Given the description of an element on the screen output the (x, y) to click on. 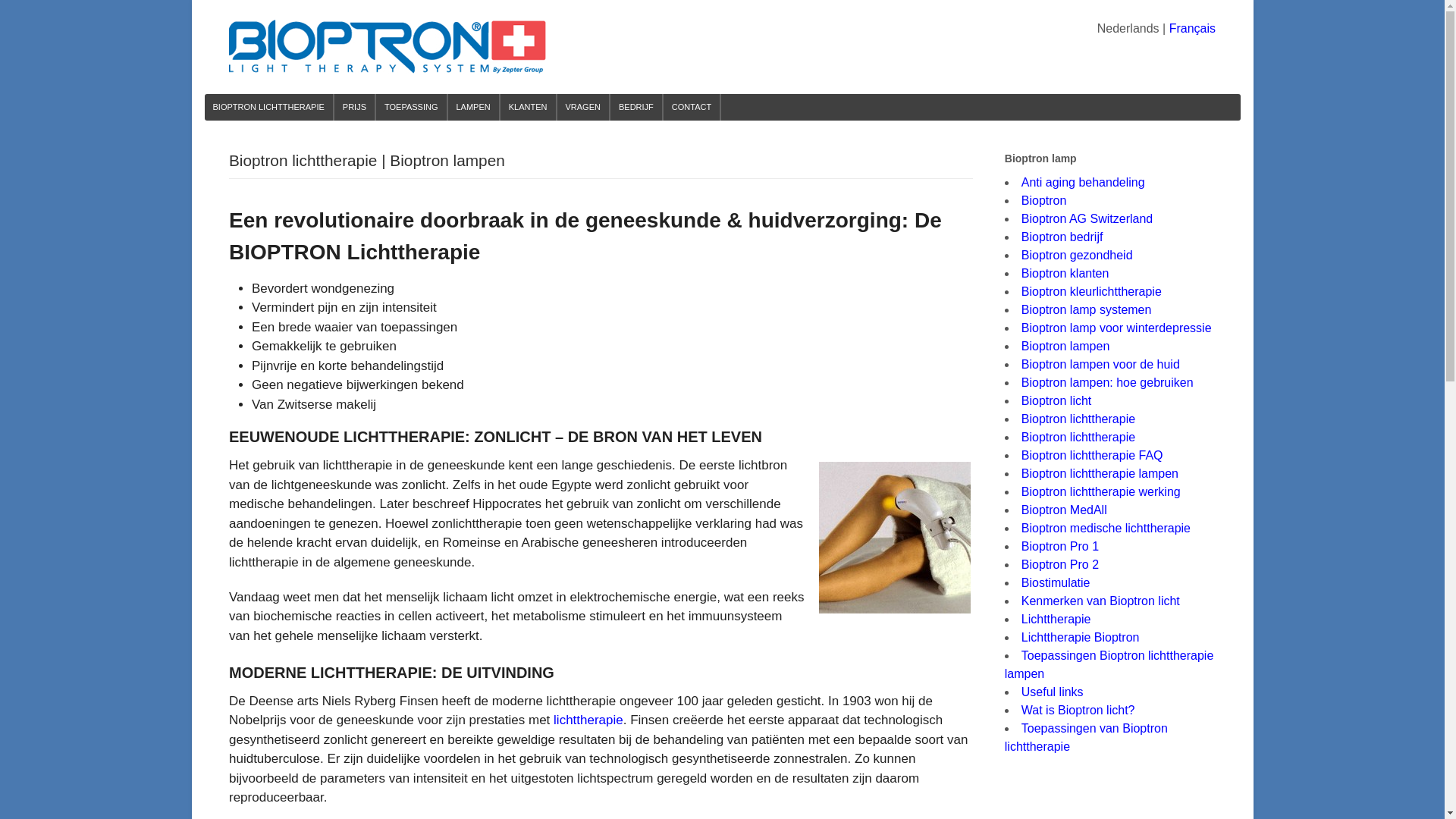
Bioptron lamp systemen Element type: text (1086, 309)
Toepassingen Bioptron lichttherapie lampen Element type: text (1109, 664)
Bioptron lichttherapie | Bioptron lampen 1 Element type: hover (894, 537)
Bioptron medische lichttherapie Element type: text (1105, 527)
Bioptron lichttherapie Element type: text (1078, 436)
Anti aging behandeling Element type: text (1083, 181)
Bioptron lichttherapie werking Element type: text (1100, 491)
Lichttherapie Bioptron Element type: text (1080, 636)
KLANTEN Element type: text (527, 107)
Bioptron lampen Element type: text (1065, 345)
Toepassingen van Bioptron lichttherapie Element type: text (1085, 737)
Bioptron lamp voor winterdepressie Element type: text (1116, 327)
Bioptron lichttherapie Element type: text (1078, 418)
Kenmerken van Bioptron licht Element type: text (1100, 600)
lichttherapie Element type: text (588, 719)
VRAGEN Element type: text (582, 107)
Wat is Bioptron licht? Element type: text (1078, 709)
Bioptron klanten Element type: text (1065, 272)
CONTACT Element type: text (691, 107)
BIOPTRON LICHTTHERAPIE Element type: text (268, 107)
Bioptron lichttherapie lampen Element type: text (1099, 473)
Bioptron MedAll Element type: text (1064, 509)
BEDRIJF Element type: text (636, 107)
Lichttherapie Element type: text (1056, 618)
Biostimulatie Element type: text (1055, 582)
Bioptron AG Switzerland Element type: text (1086, 218)
TOEPASSING Element type: text (411, 107)
Bioptron bedrijf Element type: text (1062, 236)
Bioptron lichttherapie FAQ Element type: text (1092, 454)
Bioptron kleurlichttherapie Element type: text (1091, 291)
Bioptron lampen: hoe gebruiken Element type: text (1107, 382)
Bioptron Element type: text (1043, 200)
PRIJS Element type: text (354, 107)
Bioptron lampen voor de huid Element type: text (1100, 363)
Bioptron Lichttherapie Element type: hover (387, 66)
LAMPEN Element type: text (472, 107)
Bioptron Pro 1 Element type: text (1059, 545)
Bioptron licht Element type: text (1056, 400)
Bioptron gezondheid Element type: text (1076, 254)
Bioptron Pro 2 Element type: text (1059, 564)
Useful links Element type: text (1052, 691)
